Given the description of an element on the screen output the (x, y) to click on. 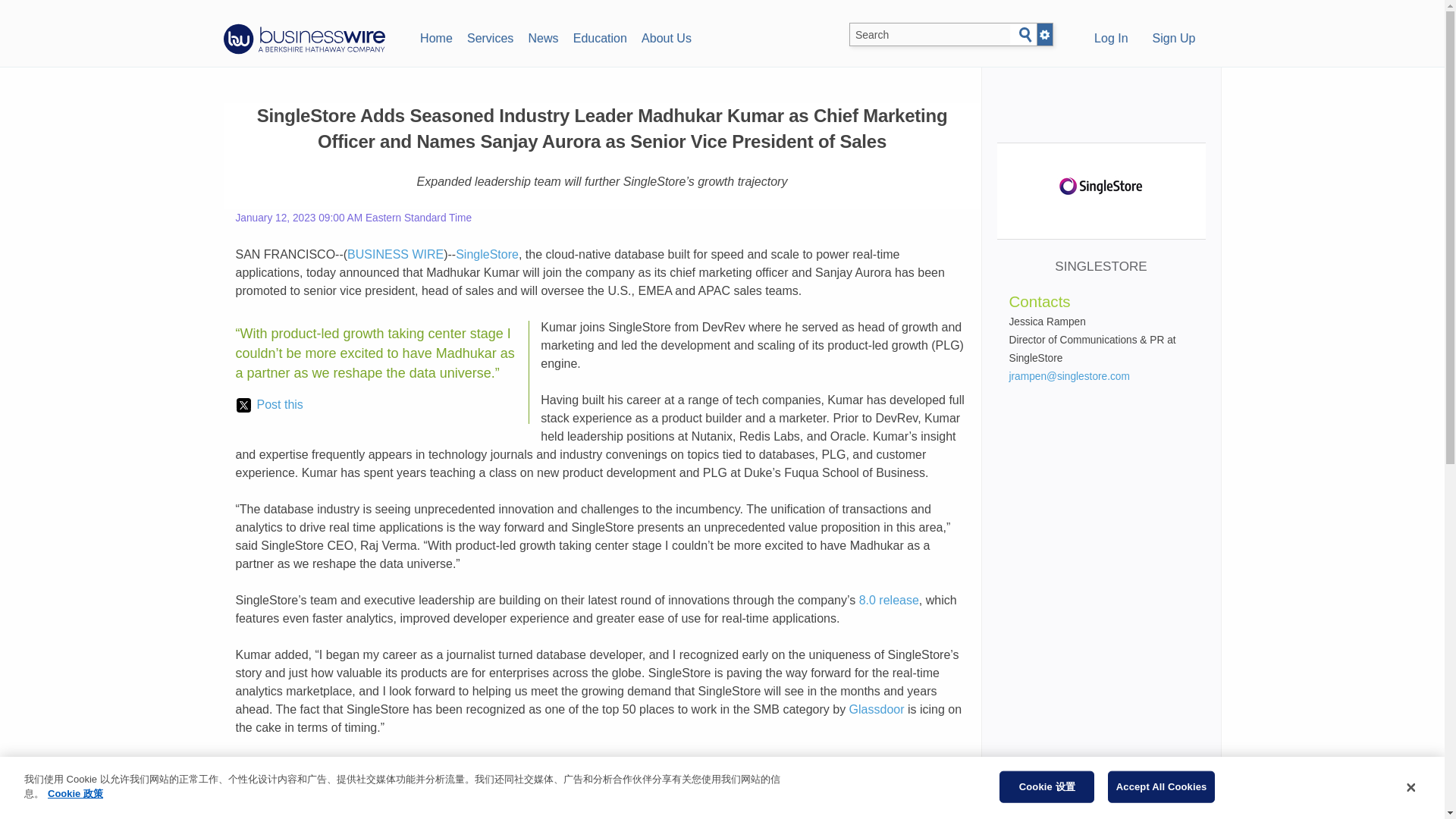
Post this (269, 404)
Glassdoor (876, 708)
BUSINESS WIRE (395, 254)
8.0 release (888, 599)
SingleStore (486, 254)
About Us (665, 36)
Services (490, 36)
Home (436, 36)
News (543, 36)
Search (1025, 34)
